Given the description of an element on the screen output the (x, y) to click on. 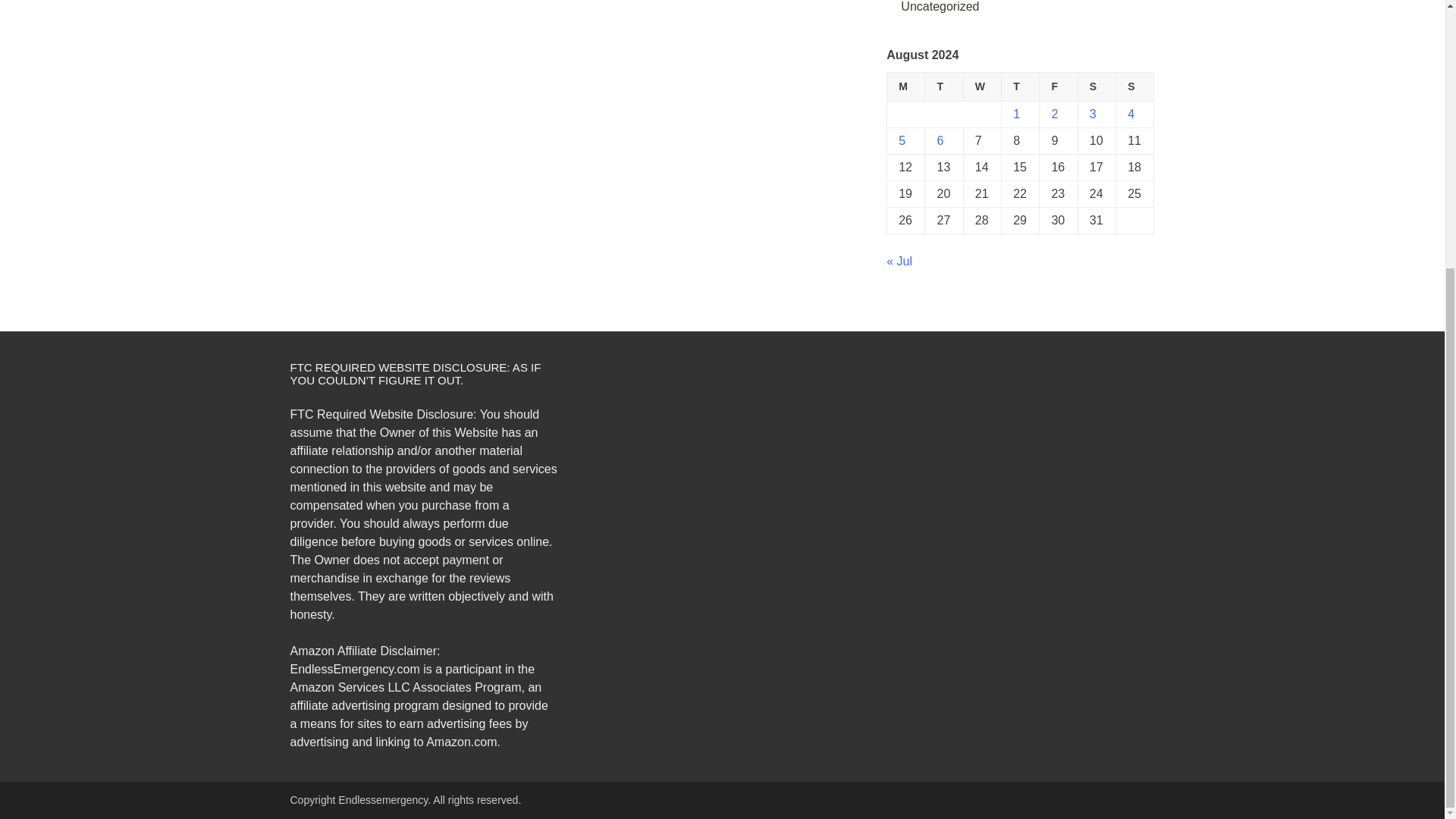
Tuesday (943, 86)
Wednesday (981, 86)
Monday (905, 86)
Thursday (1020, 86)
Uncategorized (939, 6)
Friday (1058, 86)
Saturday (1096, 86)
Sunday (1135, 86)
